Given the description of an element on the screen output the (x, y) to click on. 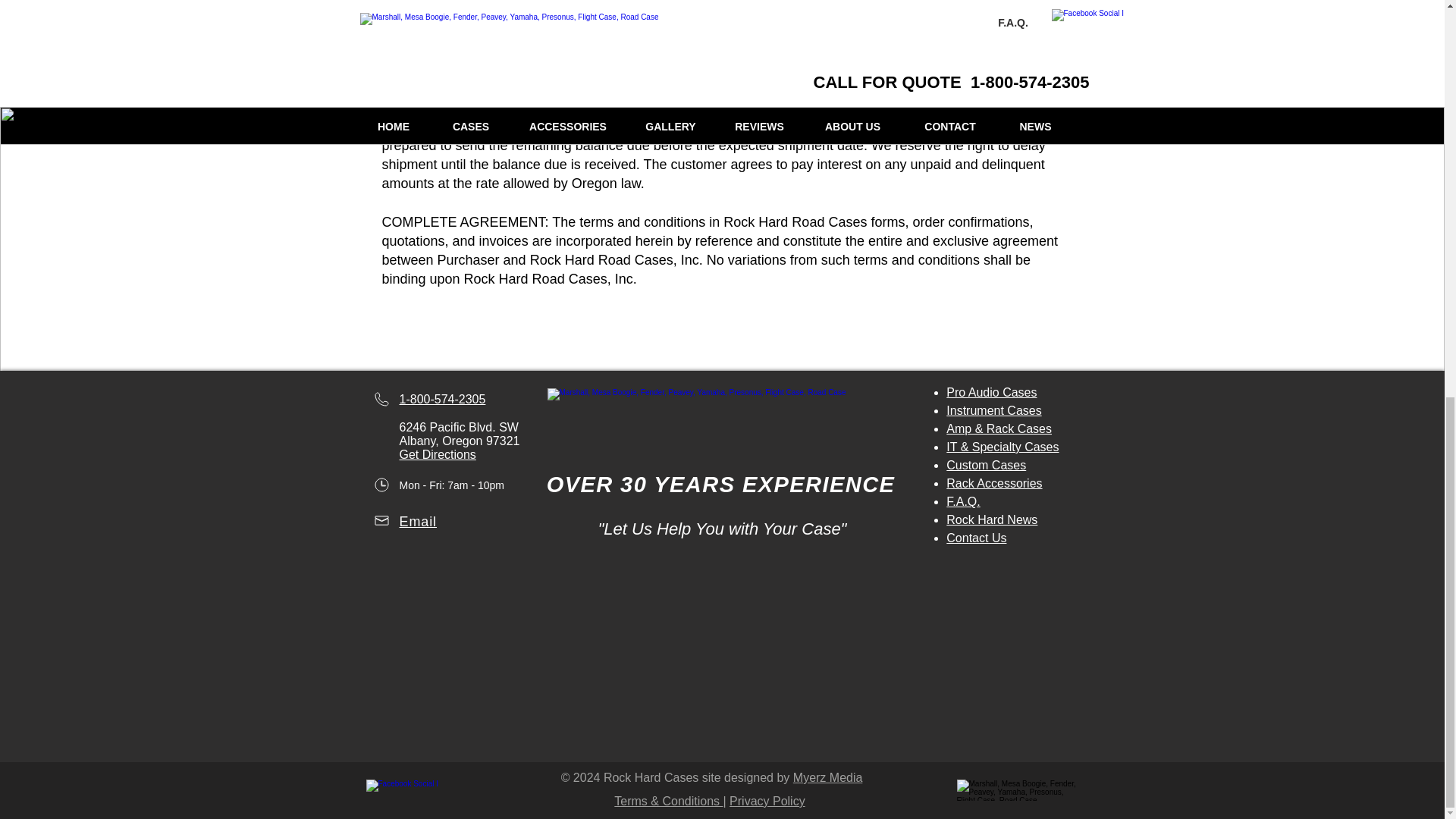
1-800-574-2305 (441, 399)
Pro Audio Cases (991, 391)
F.A.Q. (962, 501)
Custom Cases (986, 464)
Rack Accessories (994, 482)
Email (417, 521)
Rock Hard News (991, 519)
Privacy Policy (767, 800)
Myerz Media (828, 777)
Contact Us (976, 537)
